Given the description of an element on the screen output the (x, y) to click on. 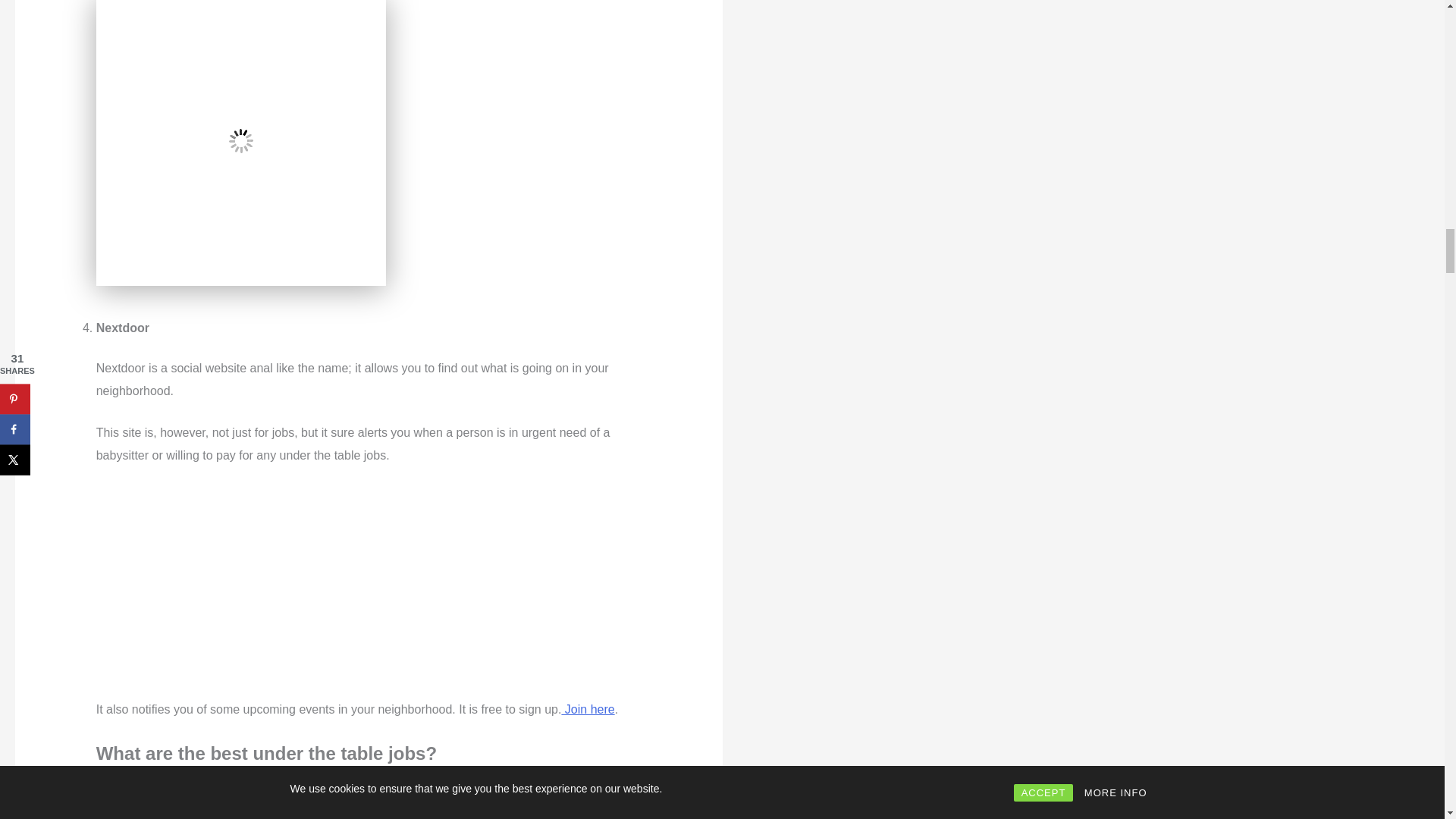
Join here (587, 708)
